Given the description of an element on the screen output the (x, y) to click on. 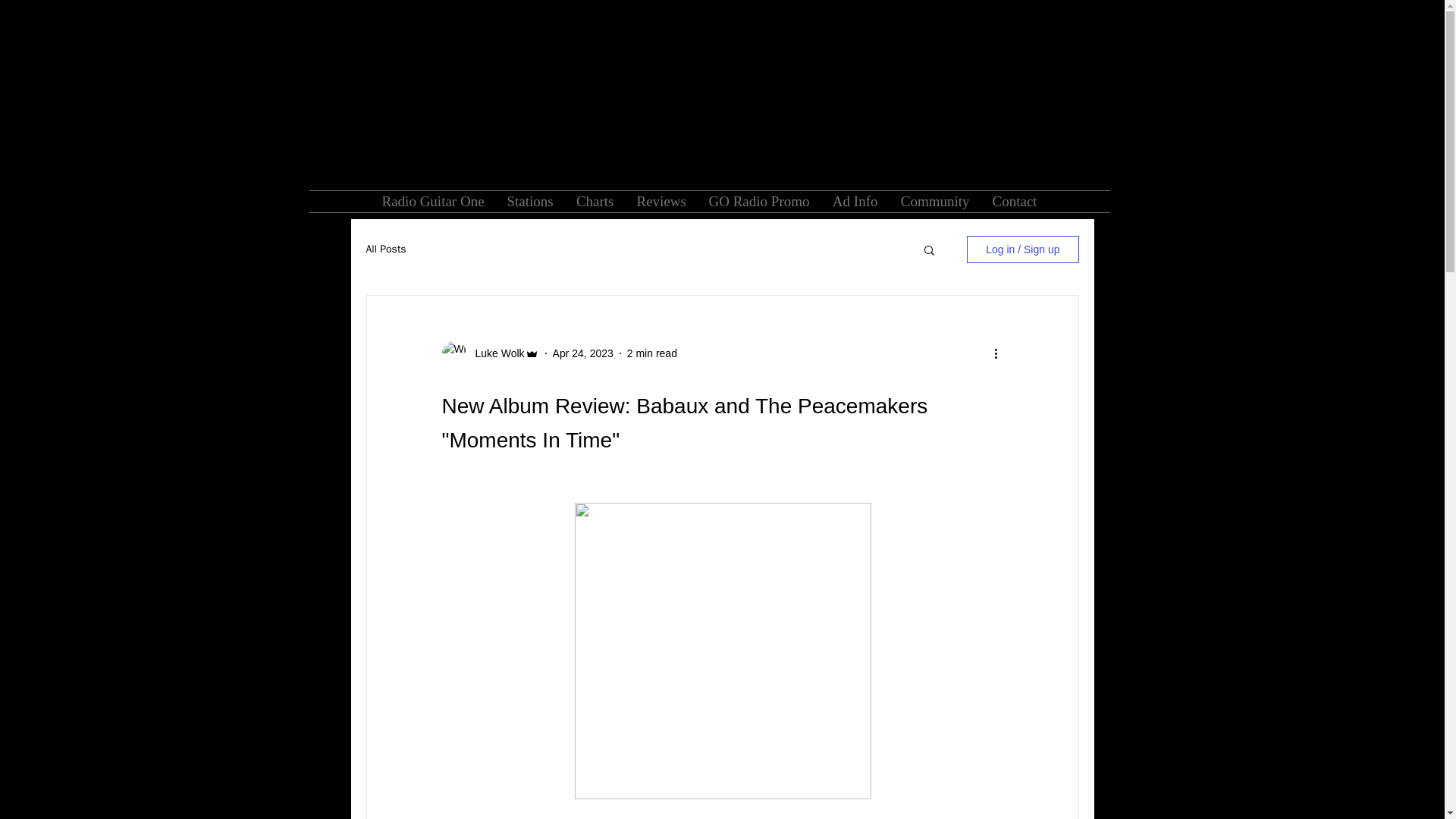
Luke Wolk (494, 353)
Apr 24, 2023 (582, 353)
2 min read (652, 353)
Community (933, 201)
Radio Guitar One (432, 201)
GO Radio Promo (759, 201)
All Posts (385, 249)
Contact (1014, 201)
Charts (594, 201)
Reviews (660, 201)
